Given the description of an element on the screen output the (x, y) to click on. 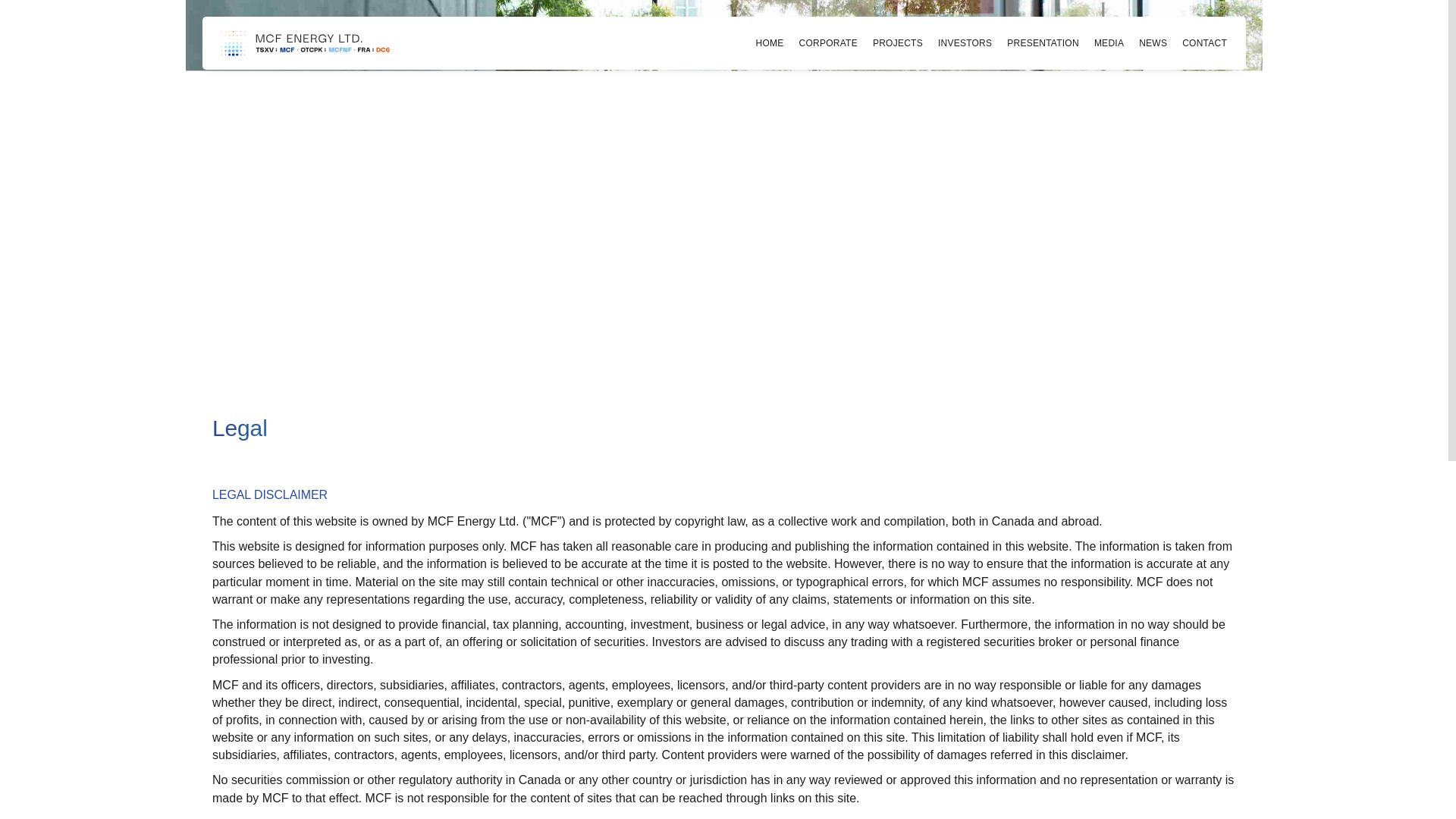
PRESENTATION (1042, 42)
PROJECTS (897, 42)
CONTACT (1204, 42)
CORPORATE (828, 42)
INVESTORS (964, 42)
NEWS (1152, 42)
MCF Energy Ltd. (305, 42)
MEDIA (1109, 42)
HOME (769, 42)
